Given the description of an element on the screen output the (x, y) to click on. 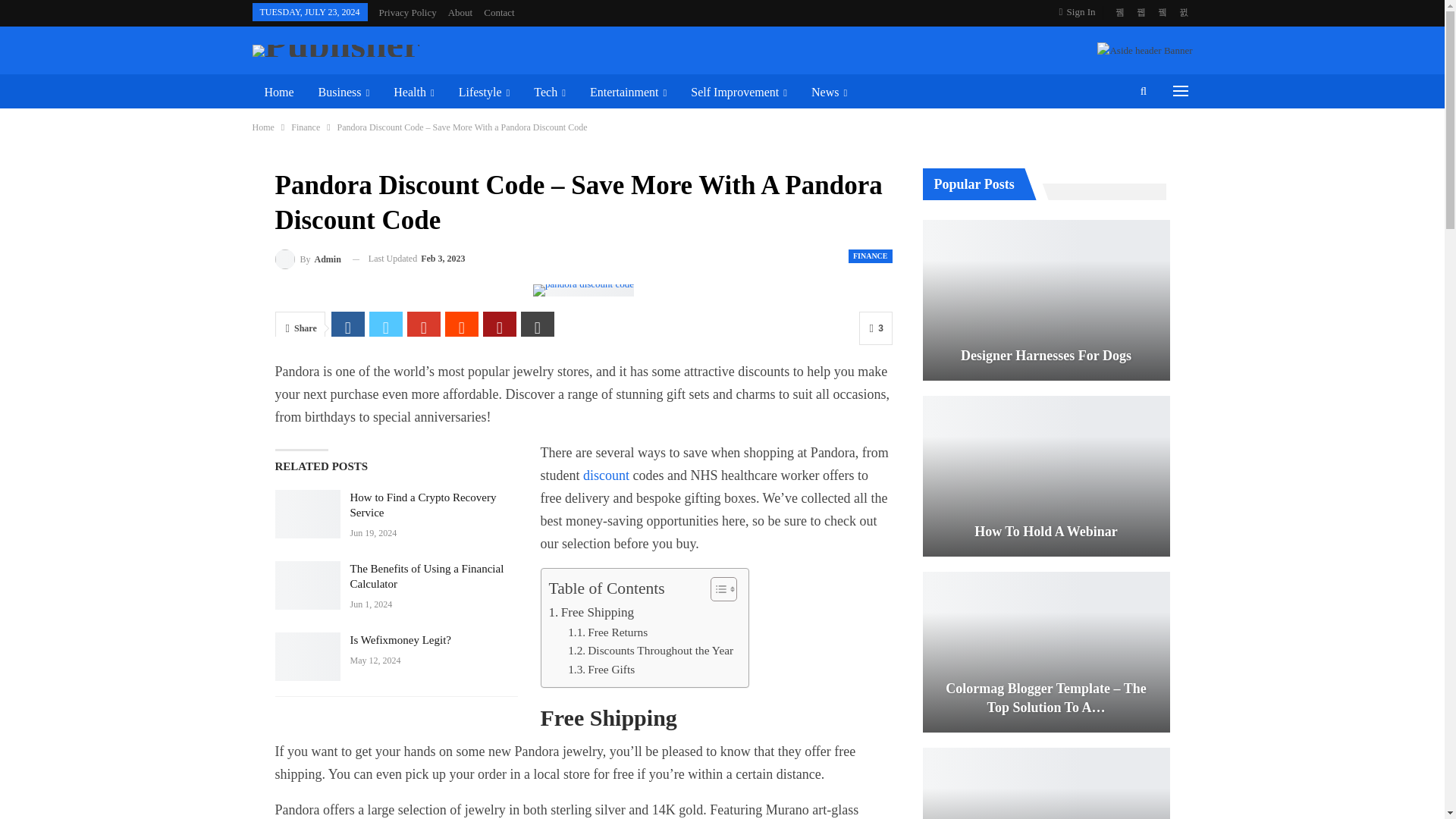
Home (278, 92)
Privacy Policy (407, 12)
About (460, 12)
Sign In (1080, 12)
Free Gifts (600, 669)
Health (413, 92)
Browse Author Articles (307, 258)
Contact (498, 12)
Free Shipping (591, 611)
Free Returns (607, 632)
Is Wefixmoney Legit? (307, 656)
How to Find a Crypto Recovery Service (307, 513)
Discounts Throughout the Year (650, 650)
Tech (549, 92)
Lifestyle (484, 92)
